Given the description of an element on the screen output the (x, y) to click on. 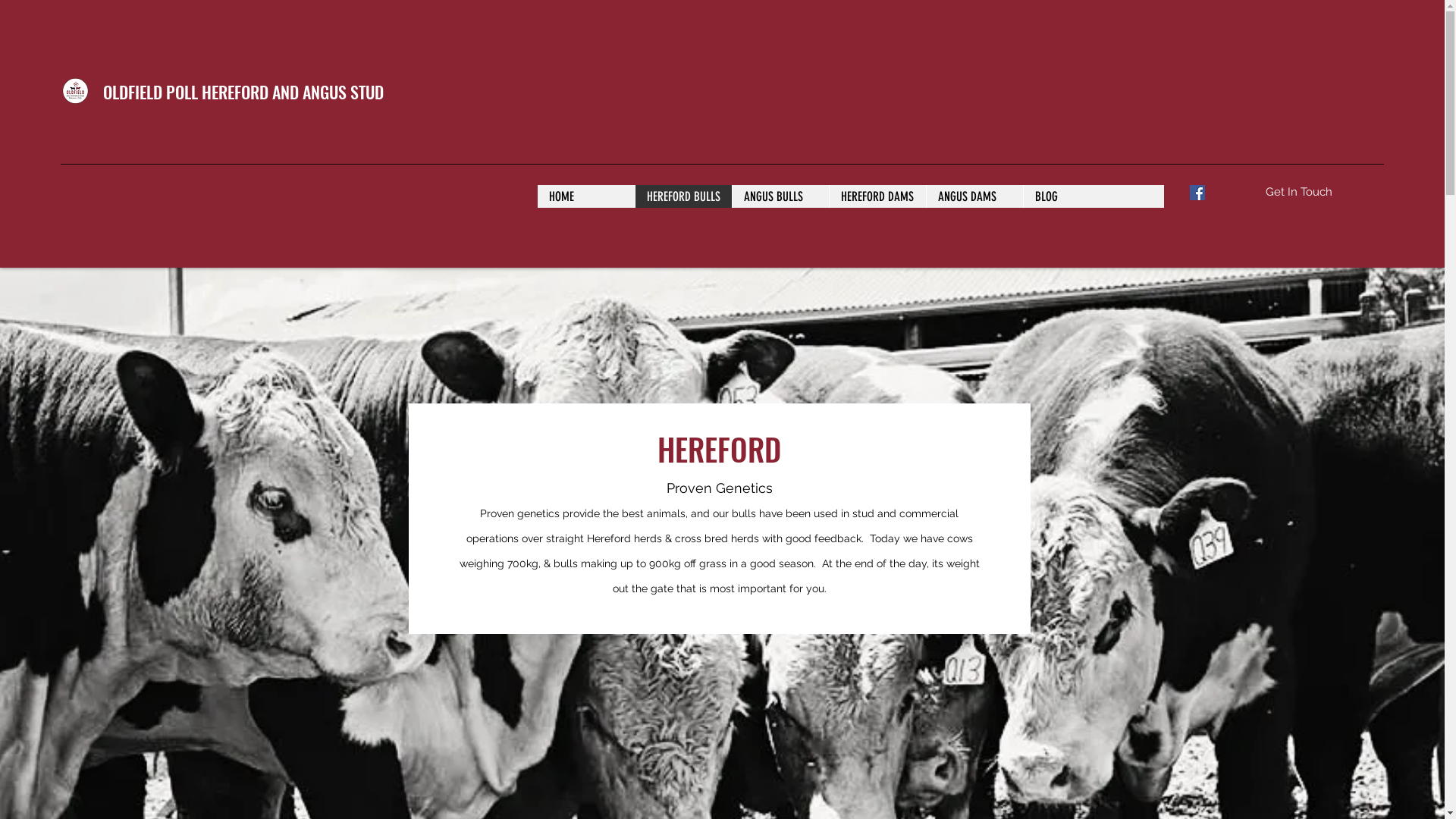
BLOG Element type: text (1071, 196)
Get In Touch Element type: text (1298, 192)
HOME Element type: text (585, 196)
OLDFIELD POLL HEREFORD AND ANGUS STUD Element type: text (243, 91)
ANGUS BULLS Element type: text (779, 196)
HEREFORD DAMS Element type: text (876, 196)
HEREFORD BULLS Element type: text (682, 196)
ANGUS DAMS Element type: text (973, 196)
